Given the description of an element on the screen output the (x, y) to click on. 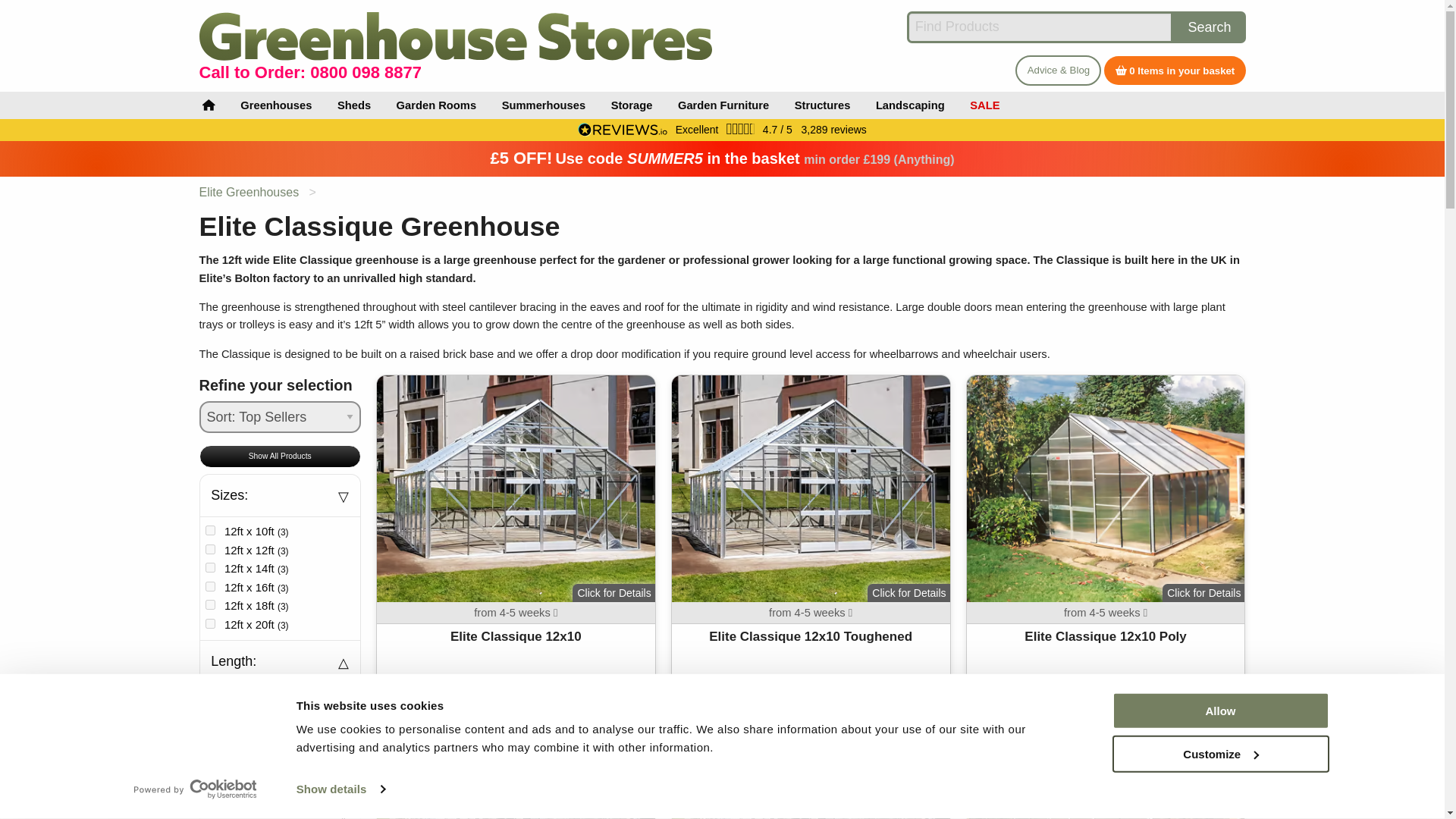
Click to see details. (515, 767)
Click to see details. (1106, 767)
Click to see details. (810, 539)
Show details (340, 789)
4.66 Stars (740, 129)
Click to see details. (515, 539)
Click to see details. (1106, 539)
Click to see details. (810, 767)
